Given the description of an element on the screen output the (x, y) to click on. 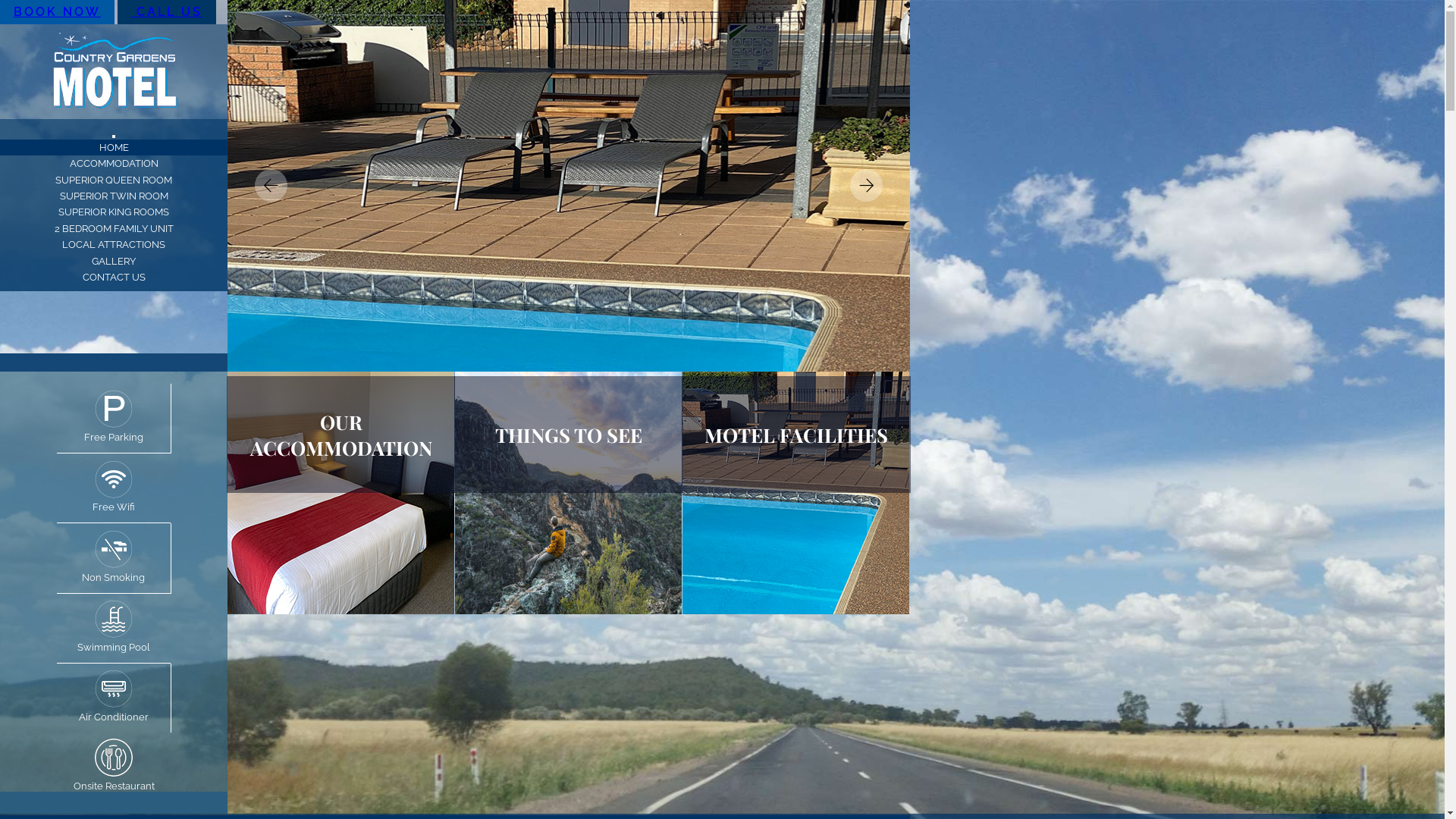
SUPERIOR TWIN ROOM Element type: text (113, 195)
ACCOMMODATION Element type: text (113, 163)
CONTACT US Element type: text (112, 276)
HOME Element type: text (113, 147)
BOOK NOW Element type: text (57, 12)
GALLERY Element type: text (113, 260)
LOCAL ATTRACTIONS Element type: text (113, 244)
2 BEDROOM FAMILY UNIT Element type: text (113, 228)
THINGS TO SEE Element type: text (568, 434)
MOTEL FACILITIES Element type: text (796, 434)
SUPERIOR KING ROOMS Element type: text (113, 211)
SUPERIOR QUEEN ROOM Element type: text (113, 179)
Country Gardens Motel Element type: hover (113, 71)
 CALL US Element type: text (166, 12)
OUR ACCOMMODATION Element type: text (341, 434)
